Given the description of an element on the screen output the (x, y) to click on. 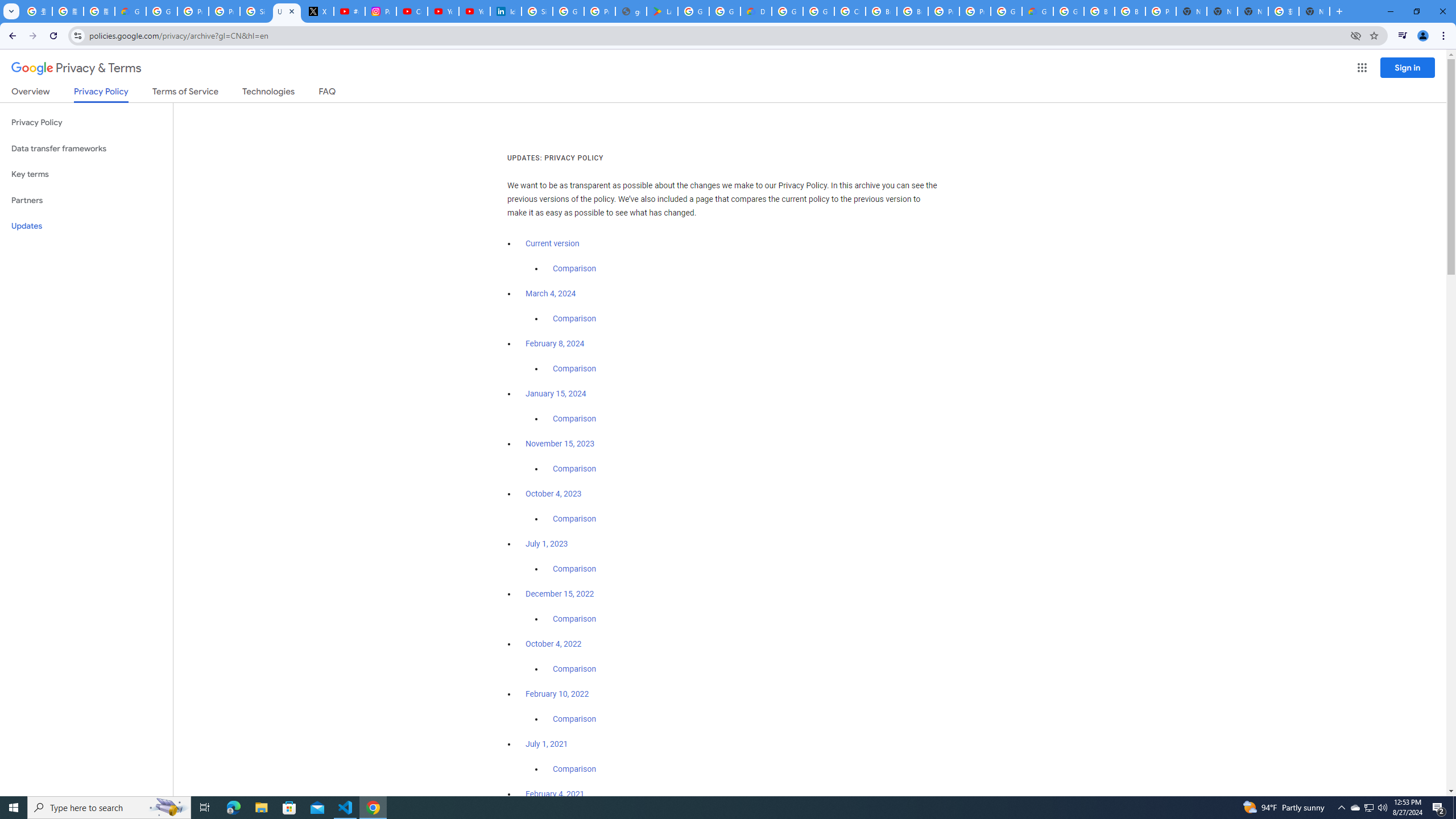
Privacy Help Center - Policies Help (192, 11)
January 15, 2024 (555, 394)
November 15, 2023 (560, 443)
Sign in - Google Accounts (536, 11)
Google Cloud Platform (1068, 11)
Browse Chrome as a guest - Computer - Google Chrome Help (1098, 11)
July 1, 2023 (546, 543)
